Given the description of an element on the screen output the (x, y) to click on. 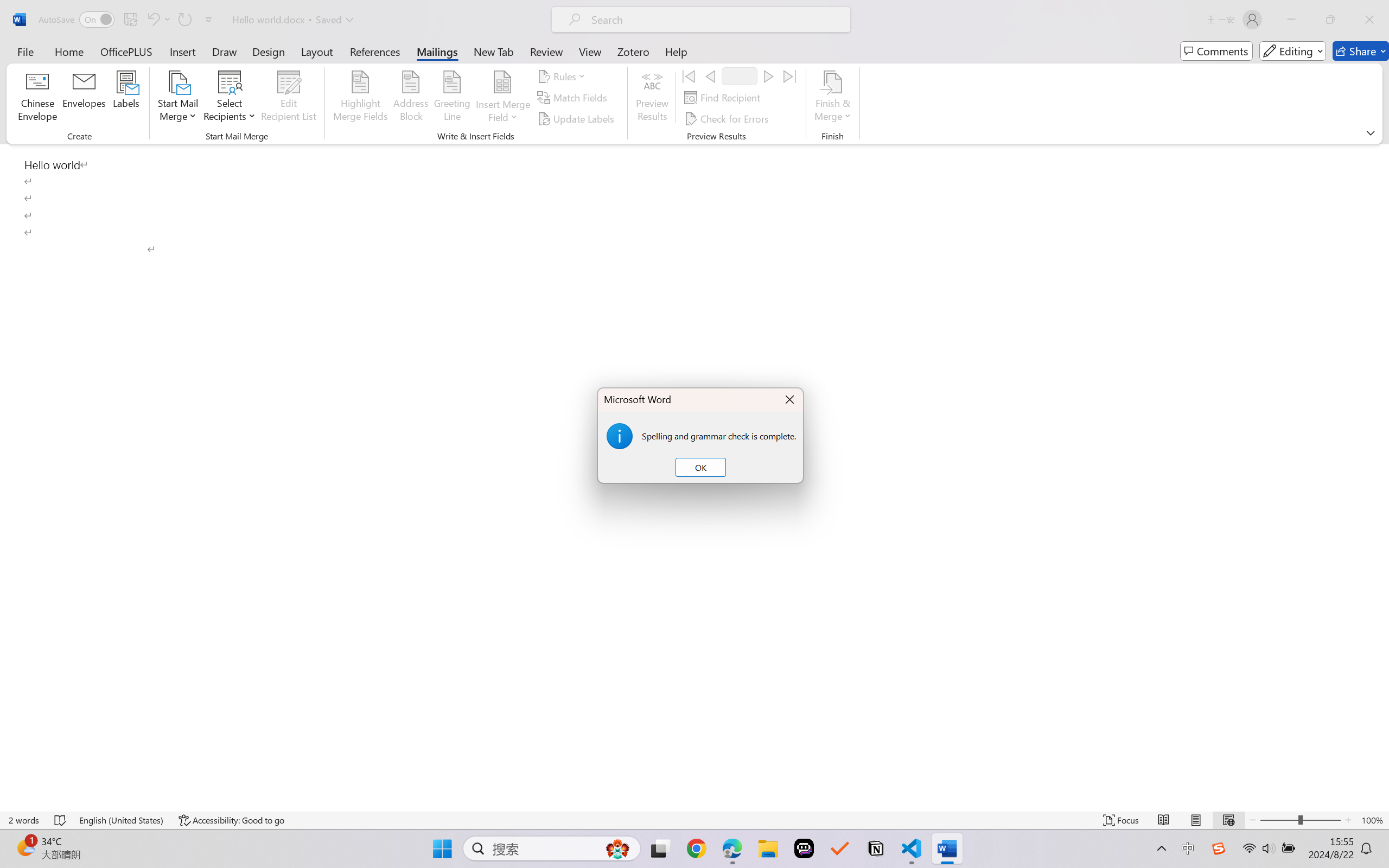
Spelling and Grammar Check No Errors (60, 819)
AutomationID: BadgeAnchorLargeTicker (24, 847)
AutoSave (76, 19)
Undo Click and Type Formatting (152, 19)
Focus  (1121, 819)
Customize Quick Access Toolbar (208, 19)
Accessibility Checker Accessibility: Good to go (231, 819)
Notion (875, 848)
Word Count 2 words (23, 819)
Chinese Envelope... (37, 97)
Zoom (1300, 819)
Class: Static (618, 436)
